Given the description of an element on the screen output the (x, y) to click on. 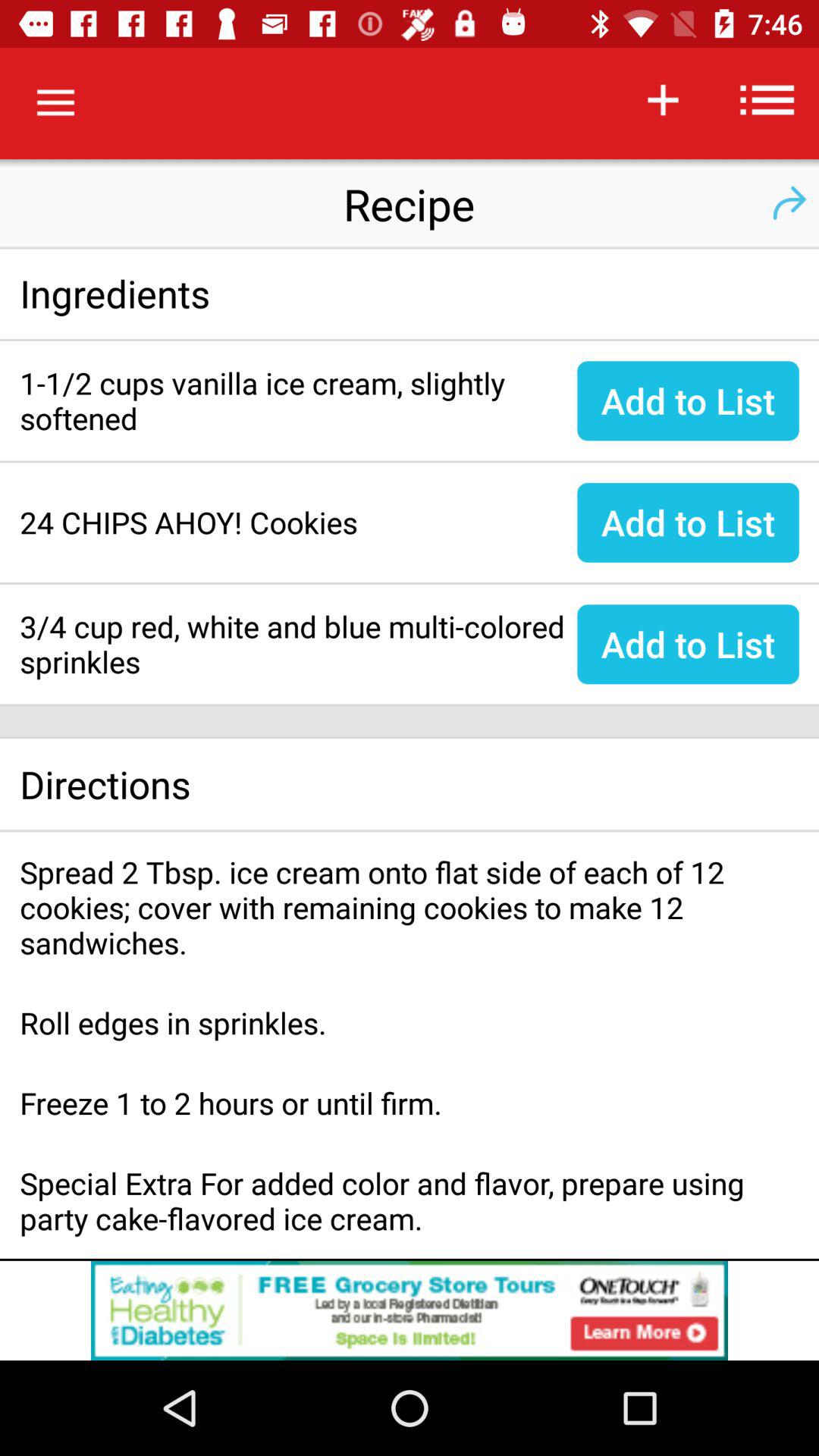
open advertisement (409, 1310)
